Given the description of an element on the screen output the (x, y) to click on. 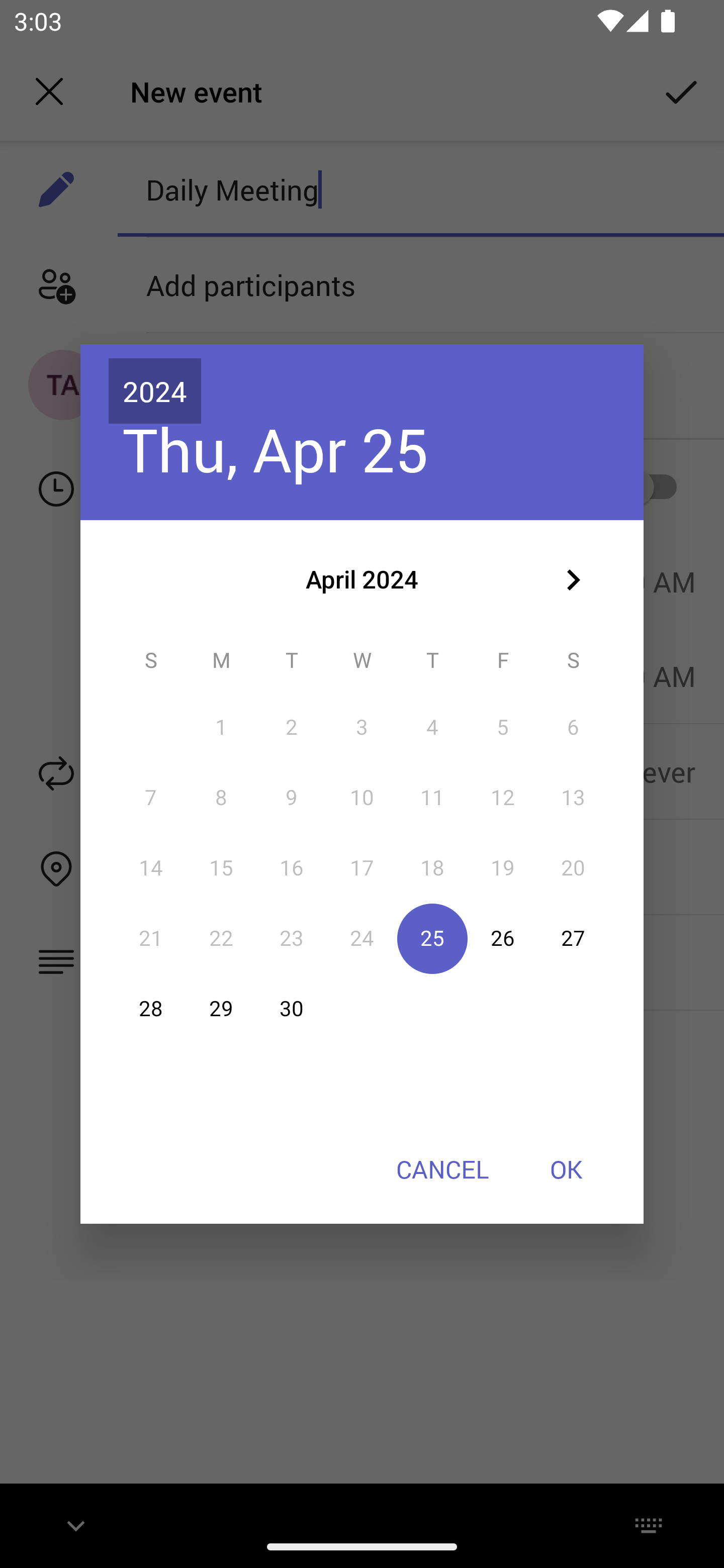
2024 (154, 391)
Thu, Apr 25 (275, 449)
Next month (572, 579)
1 01 April 2024 (221, 728)
2 02 April 2024 (291, 728)
3 03 April 2024 (361, 728)
4 04 April 2024 (432, 728)
5 05 April 2024 (502, 728)
6 06 April 2024 (572, 728)
7 07 April 2024 (150, 797)
8 08 April 2024 (221, 797)
9 09 April 2024 (291, 797)
10 10 April 2024 (361, 797)
11 11 April 2024 (432, 797)
12 12 April 2024 (502, 797)
13 13 April 2024 (572, 797)
14 14 April 2024 (150, 867)
15 15 April 2024 (221, 867)
16 16 April 2024 (291, 867)
17 17 April 2024 (361, 867)
18 18 April 2024 (432, 867)
19 19 April 2024 (502, 867)
20 20 April 2024 (572, 867)
21 21 April 2024 (150, 938)
22 22 April 2024 (221, 938)
23 23 April 2024 (291, 938)
24 24 April 2024 (361, 938)
25 25 April 2024 (432, 938)
26 26 April 2024 (502, 938)
27 27 April 2024 (572, 938)
28 28 April 2024 (150, 1008)
29 29 April 2024 (221, 1008)
30 30 April 2024 (291, 1008)
CANCEL (442, 1168)
OK (565, 1168)
